Given the description of an element on the screen output the (x, y) to click on. 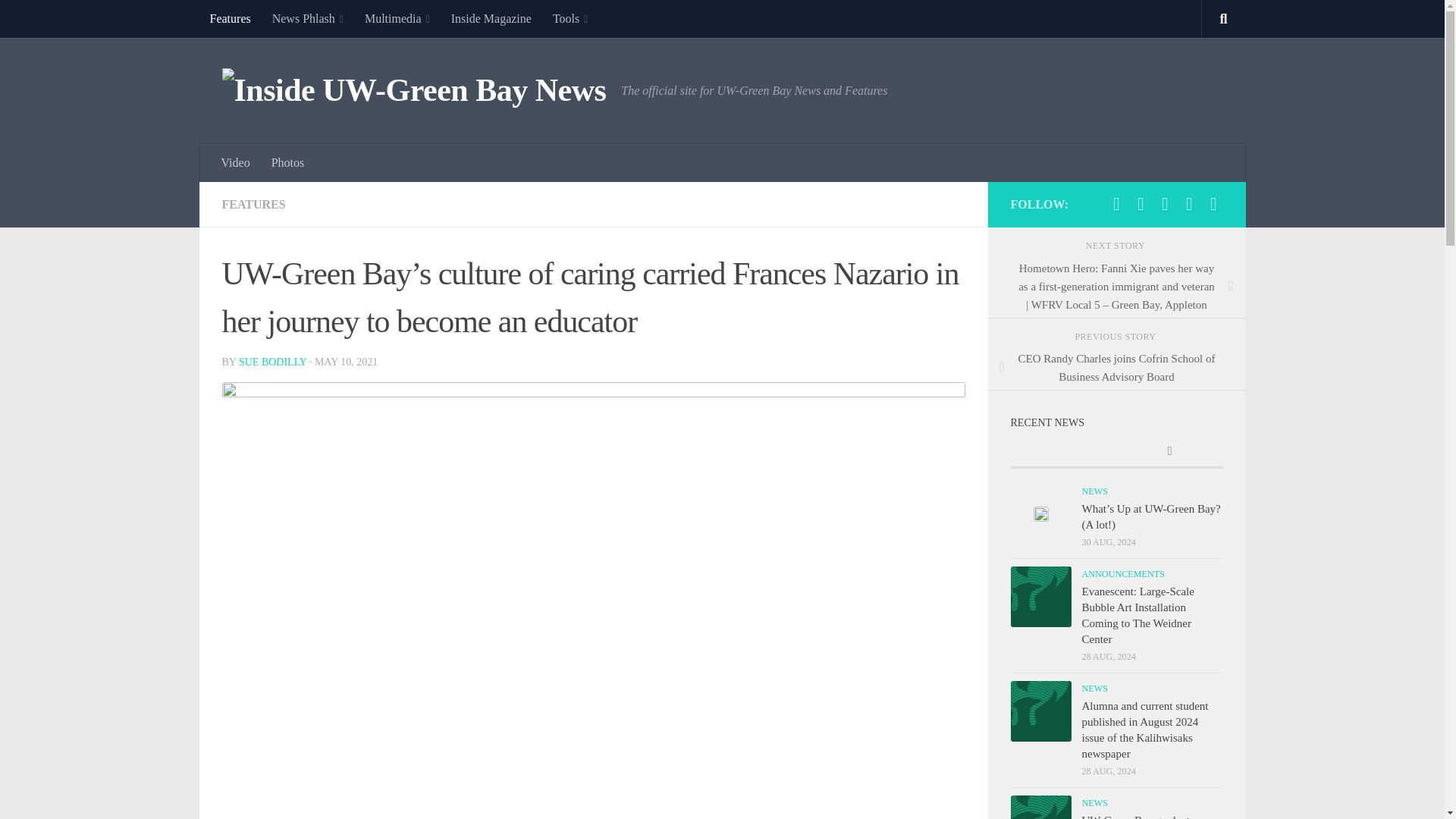
News Phlash (307, 18)
SUE BODILLY (271, 361)
Recent Posts (1063, 451)
Video (235, 162)
YouTube (1188, 203)
Skip to content (59, 20)
Tags (1169, 451)
Inside Magazine (491, 18)
Posts by Sue Bodilly (271, 361)
Features (229, 18)
